Given the description of an element on the screen output the (x, y) to click on. 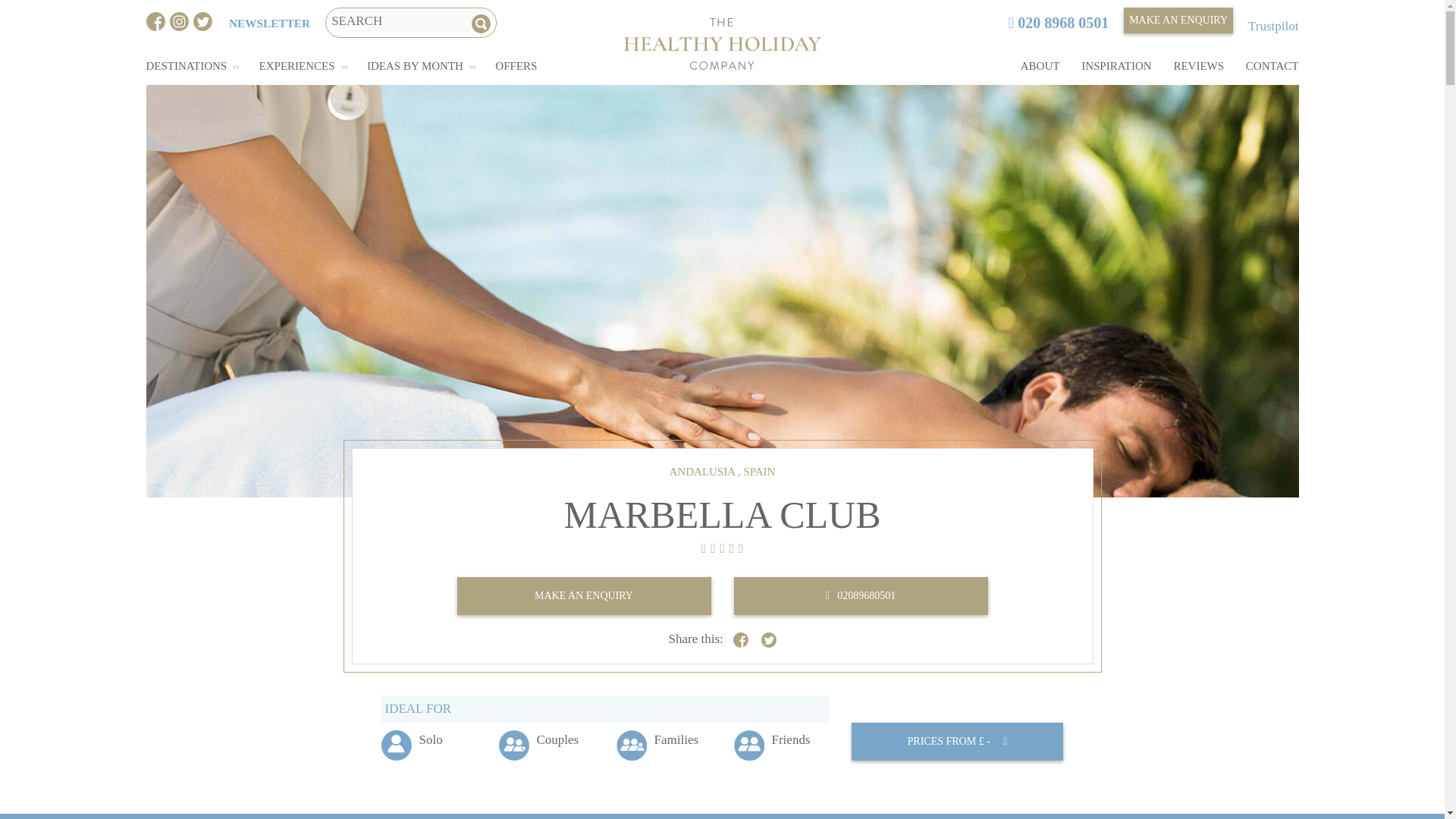
MAKE AN ENQUIRY (1178, 20)
NEWSLETTER (269, 22)
Trustpilot (1272, 25)
020 8968 0501 (1058, 22)
MAKE AN ENQUIRY (1178, 19)
DESTINATIONS (186, 65)
